Given the description of an element on the screen output the (x, y) to click on. 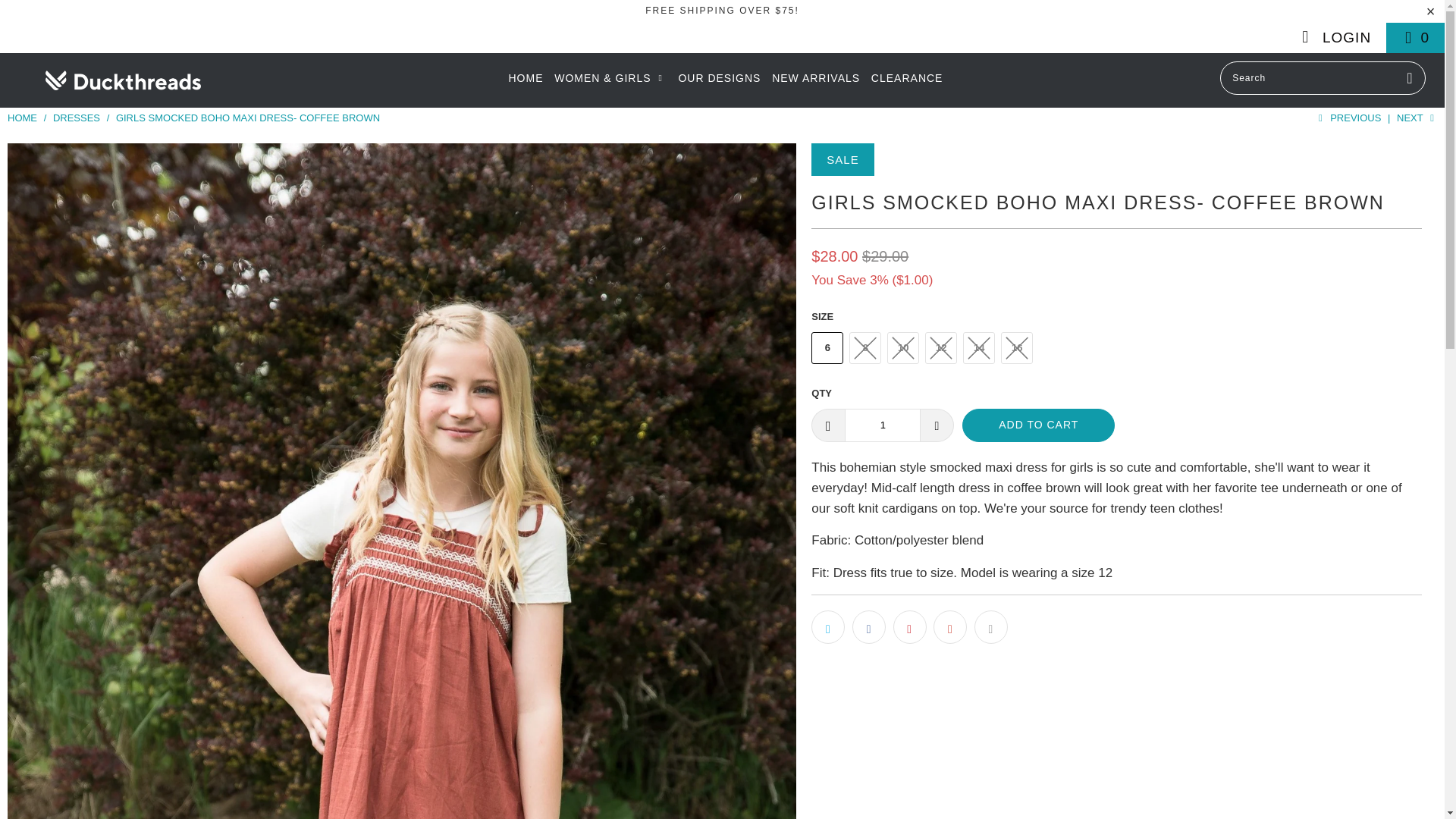
Dresses (77, 117)
Duckthreads (22, 117)
NEW ARRIVALS (815, 78)
OUR DESIGNS (719, 78)
My Account  (1334, 37)
LOGIN (1334, 37)
Share this on Twitter (827, 626)
Previous (1347, 117)
CLEARANCE (906, 78)
Email this to a friend (990, 626)
Share this on Facebook (868, 626)
Duckthreads (122, 80)
1 (882, 425)
Share this on Pinterest (909, 626)
Next (1416, 117)
